Given the description of an element on the screen output the (x, y) to click on. 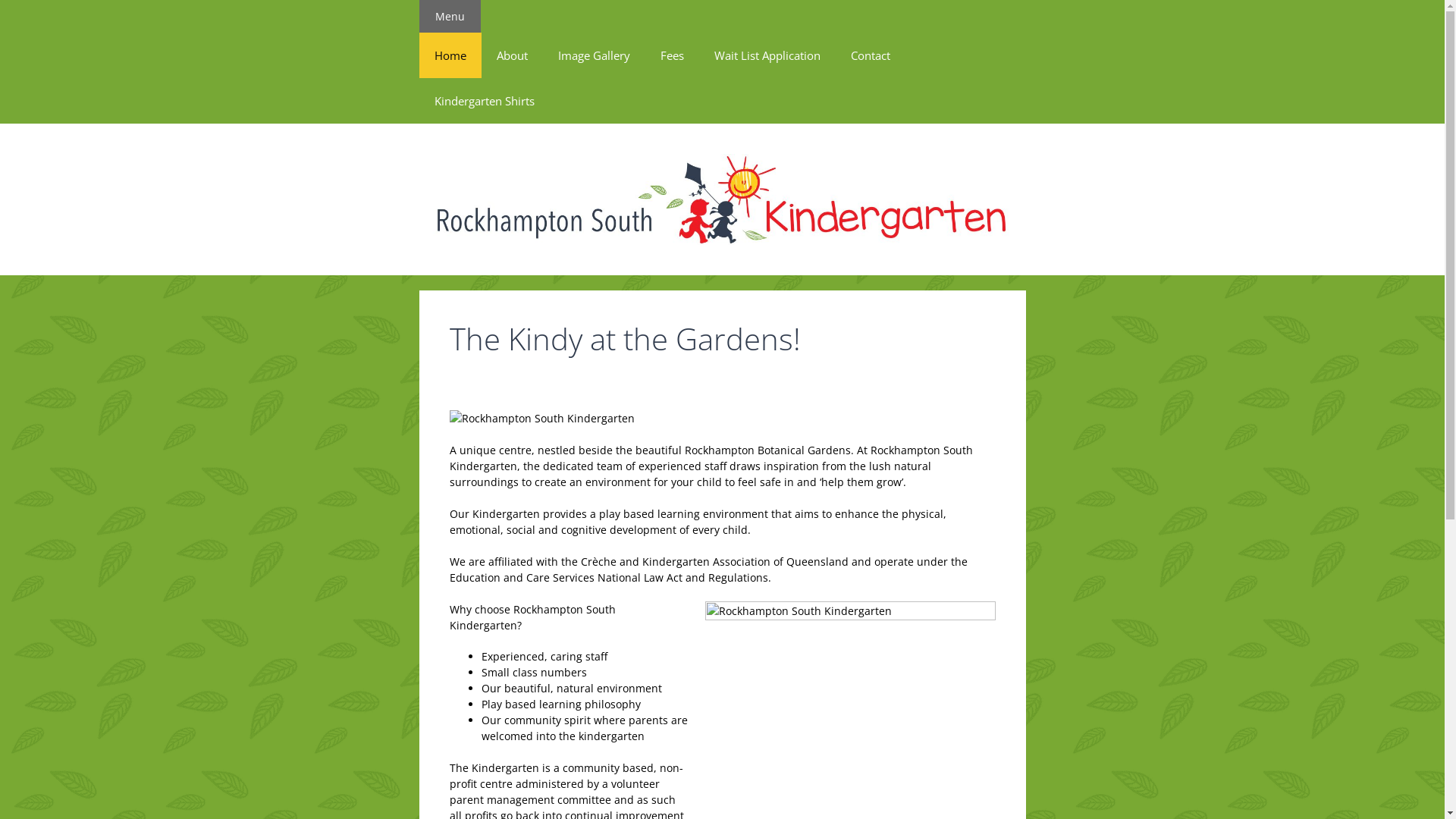
ROCKHAMPTON SOUTH KINDERGARTEN Element type: hover (721, 198)
Menu Element type: text (449, 16)
ROCKHAMPTON SOUTH KINDERGARTEN Element type: hover (721, 198)
Fees Element type: text (671, 55)
Contact Element type: text (870, 55)
Wait List Application Element type: text (767, 55)
About Element type: text (511, 55)
Home Element type: text (449, 55)
Kindergarten Shirts Element type: text (483, 100)
Image Gallery Element type: text (593, 55)
